Given the description of an element on the screen output the (x, y) to click on. 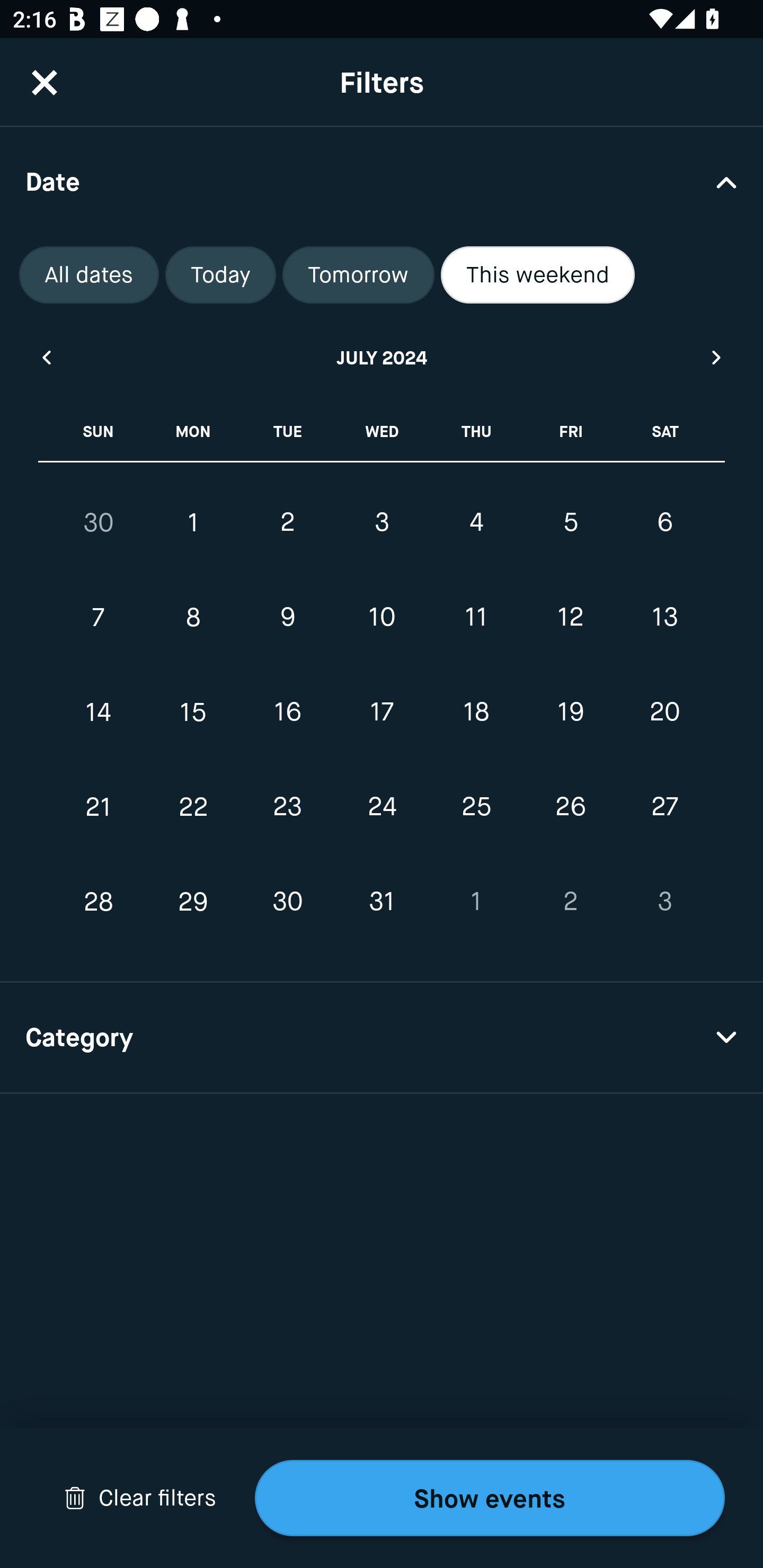
CloseButton (44, 82)
Date Drop Down Arrow (381, 181)
All dates (88, 274)
Today (220, 274)
Tomorrow (358, 274)
This weekend (537, 274)
Previous (45, 357)
Next (717, 357)
30 (98, 522)
1 (192, 522)
2 (287, 522)
3 (381, 522)
4 (475, 522)
5 (570, 522)
6 (664, 522)
7 (98, 617)
8 (192, 617)
9 (287, 617)
10 (381, 617)
11 (475, 617)
12 (570, 617)
13 (664, 617)
14 (98, 711)
15 (192, 711)
16 (287, 711)
17 (381, 711)
18 (475, 711)
19 (570, 711)
20 (664, 711)
21 (98, 806)
22 (192, 806)
23 (287, 806)
24 (381, 806)
25 (475, 806)
26 (570, 806)
27 (664, 806)
28 (98, 901)
29 (192, 901)
30 (287, 901)
31 (381, 901)
1 (475, 901)
2 (570, 901)
3 (664, 901)
Category Drop Down Arrow (381, 1038)
Drop Down Arrow Clear filters (139, 1497)
Show events (489, 1497)
